Given the description of an element on the screen output the (x, y) to click on. 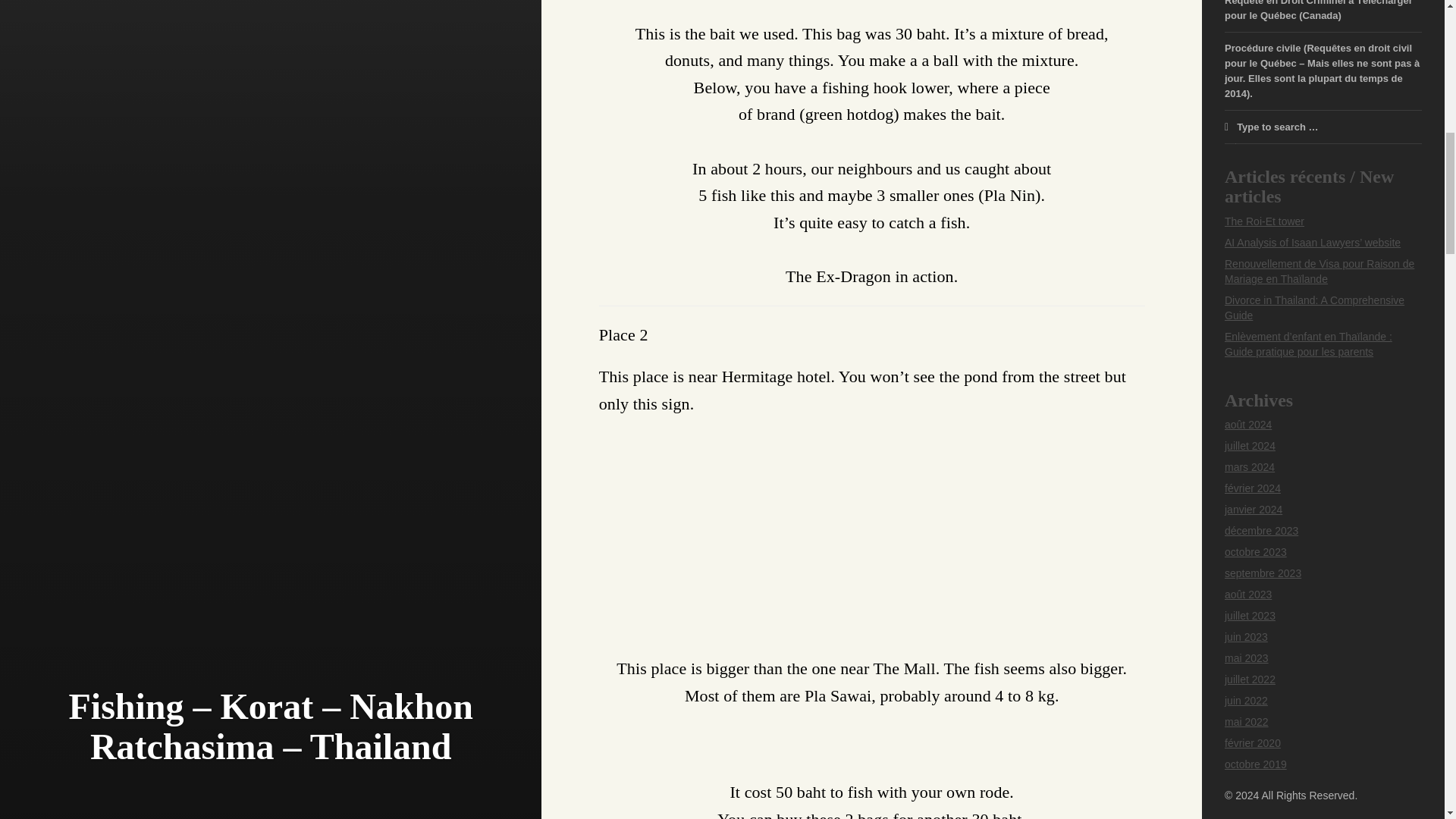
septembre 2023 (1262, 573)
juillet 2024 (1249, 445)
mars 2024 (1249, 467)
Divorce in Thailand: A Comprehensive Guide (1314, 307)
The Roi-Et tower (1264, 221)
janvier 2024 (1253, 509)
octobre 2023 (1255, 551)
